Given the description of an element on the screen output the (x, y) to click on. 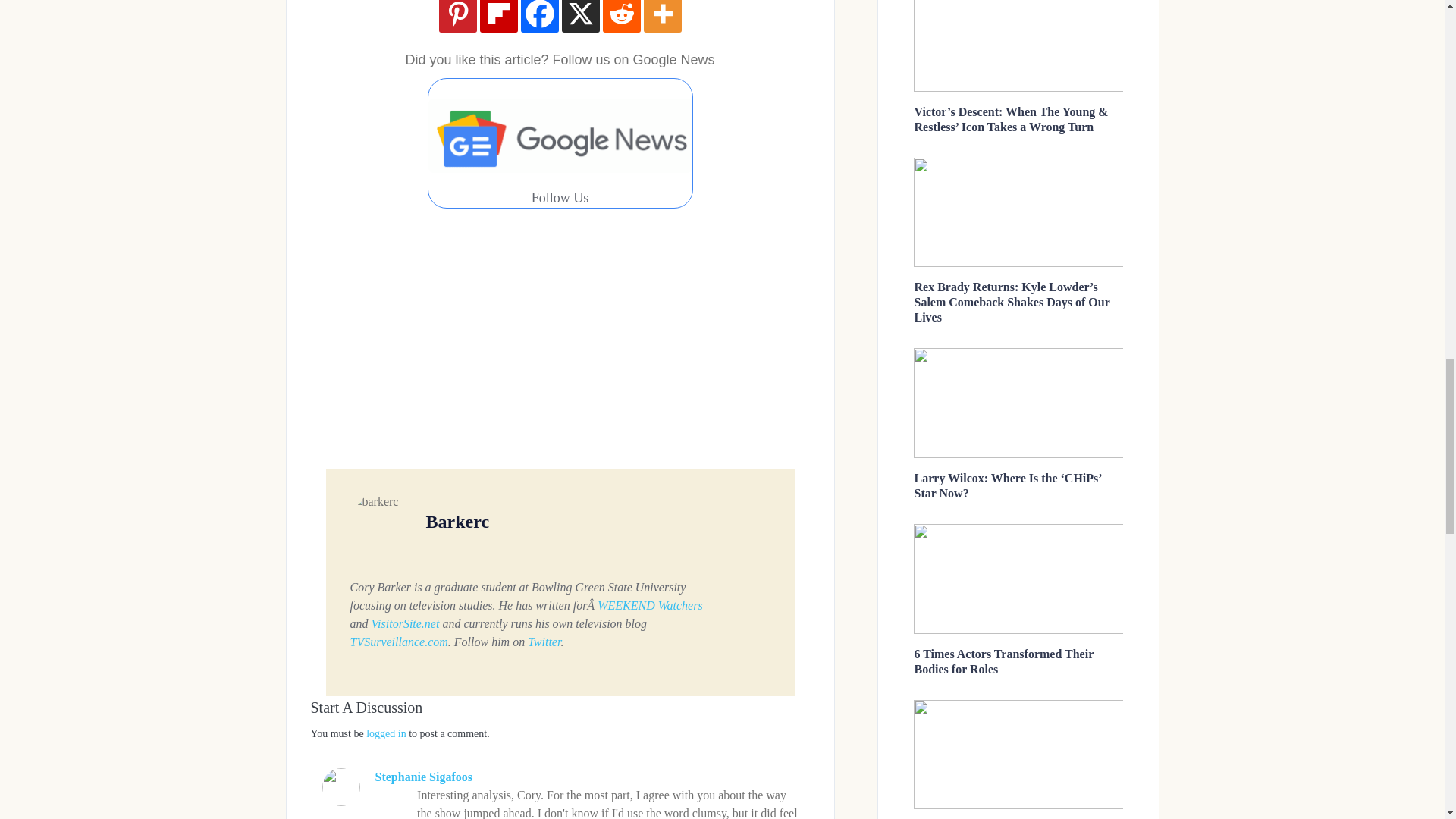
Facebook (538, 16)
Flipboard (497, 16)
More (662, 16)
Reddit (621, 16)
X (579, 16)
Pinterest (457, 16)
